Given the description of an element on the screen output the (x, y) to click on. 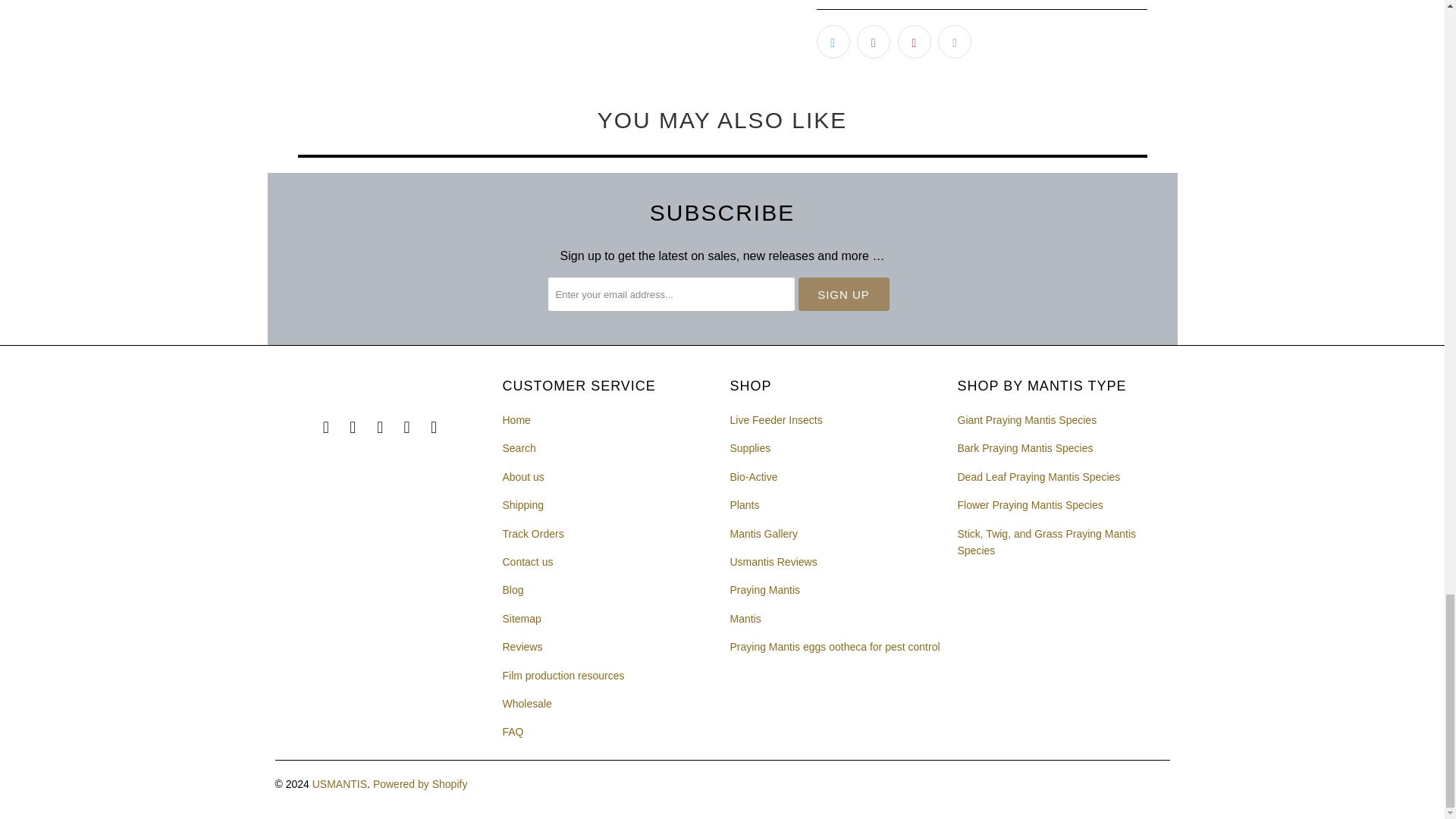
Share this on Twitter (831, 41)
Email this to a friend (954, 41)
Sign Up (842, 294)
Share this on Pinterest (914, 41)
Share this on Facebook (873, 41)
